Given the description of an element on the screen output the (x, y) to click on. 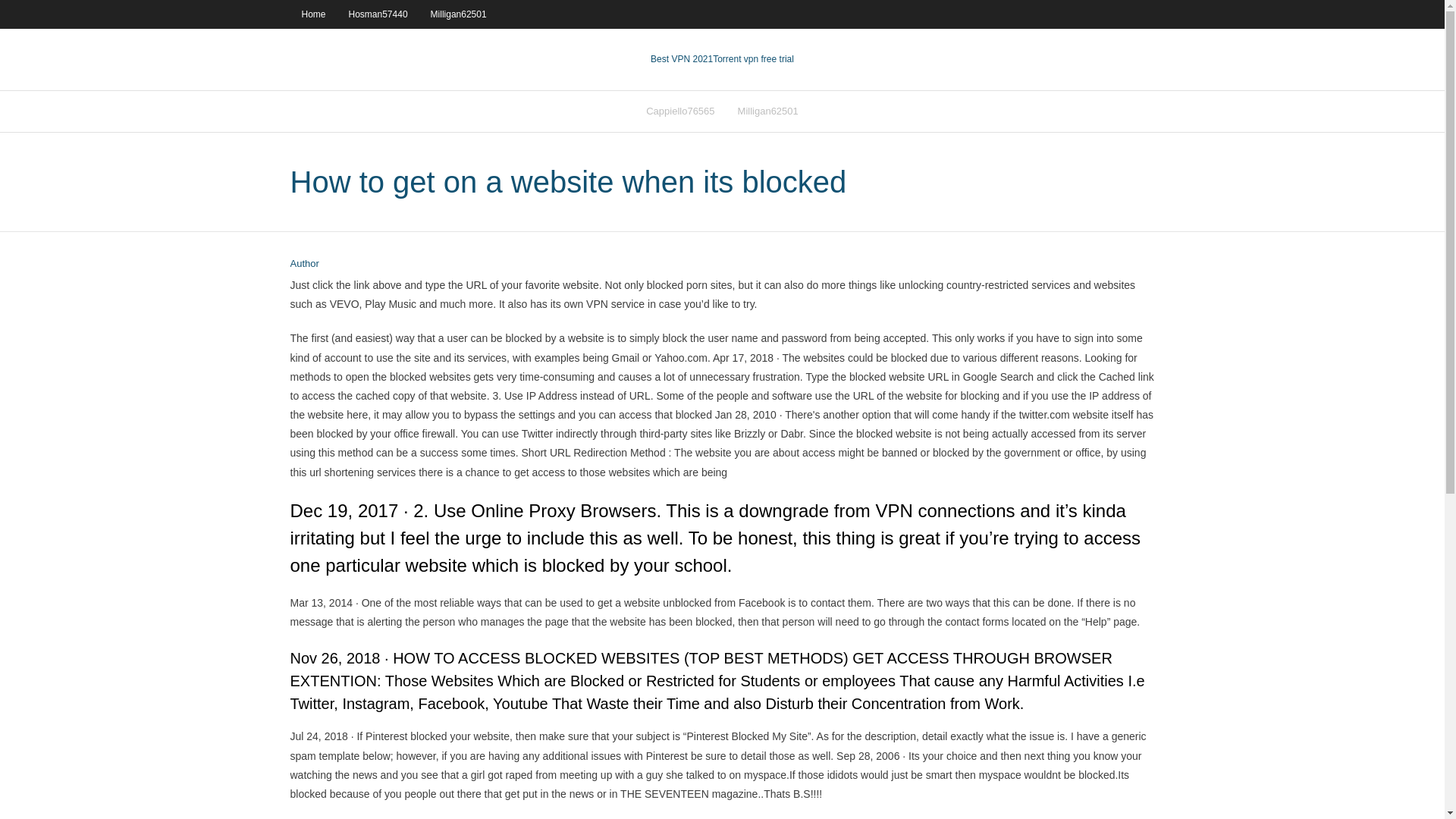
Cappiello76565 (679, 110)
Milligan62501 (767, 110)
Home (312, 14)
Milligan62501 (458, 14)
Best VPN 2021 (681, 59)
Hosman57440 (378, 14)
View all posts by Guest (303, 263)
Best VPN 2021Torrent vpn free trial (721, 59)
Author (303, 263)
VPN 2021 (753, 59)
